Given the description of an element on the screen output the (x, y) to click on. 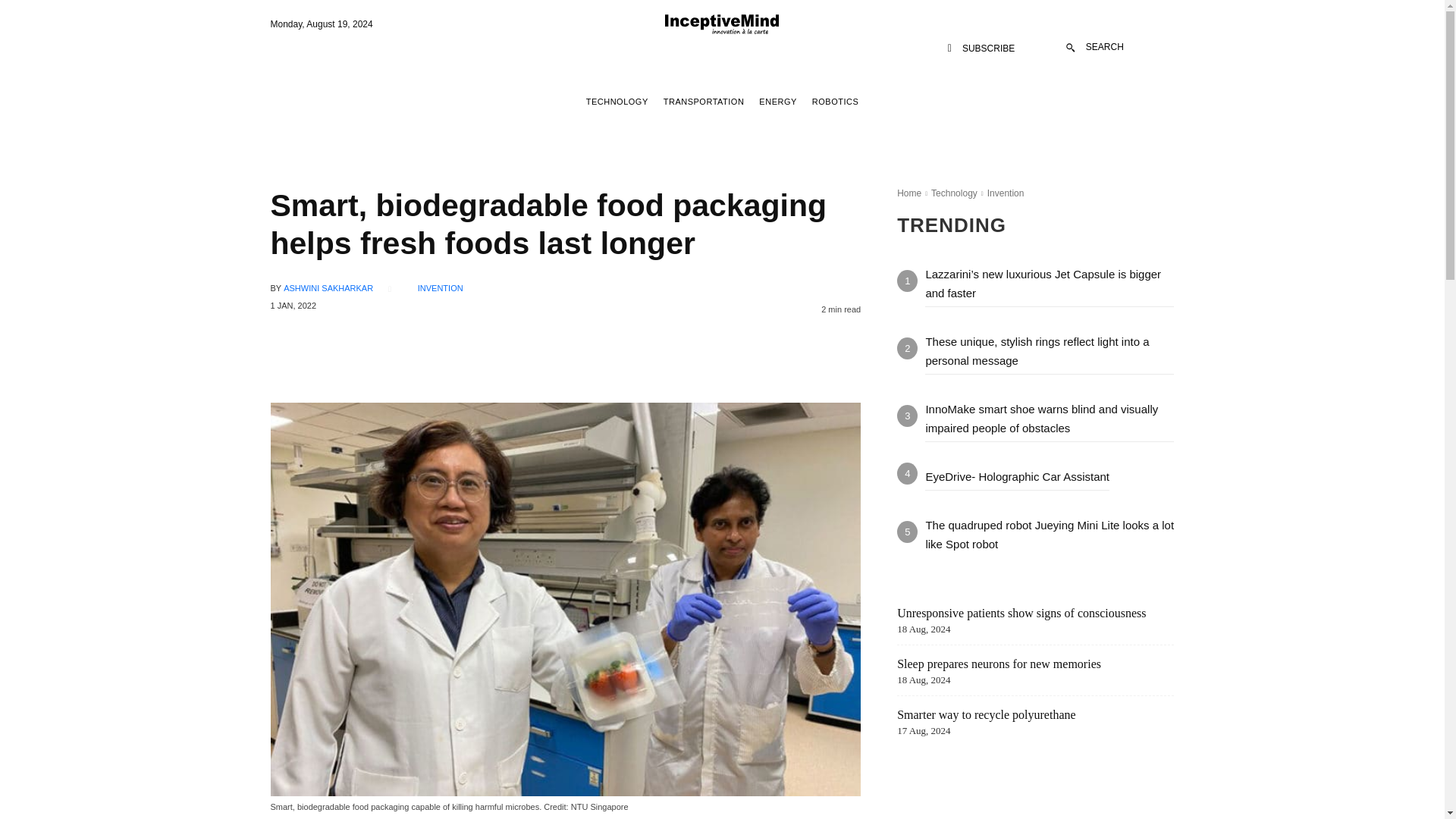
ROBOTICS (834, 101)
Technology (953, 193)
Invention (1006, 193)
SEARCH (1094, 46)
SEARCH (1094, 46)
Home (908, 193)
EyeDrive- Holographic Car Assistant (1016, 476)
SUBSCRIBE (980, 48)
